Given the description of an element on the screen output the (x, y) to click on. 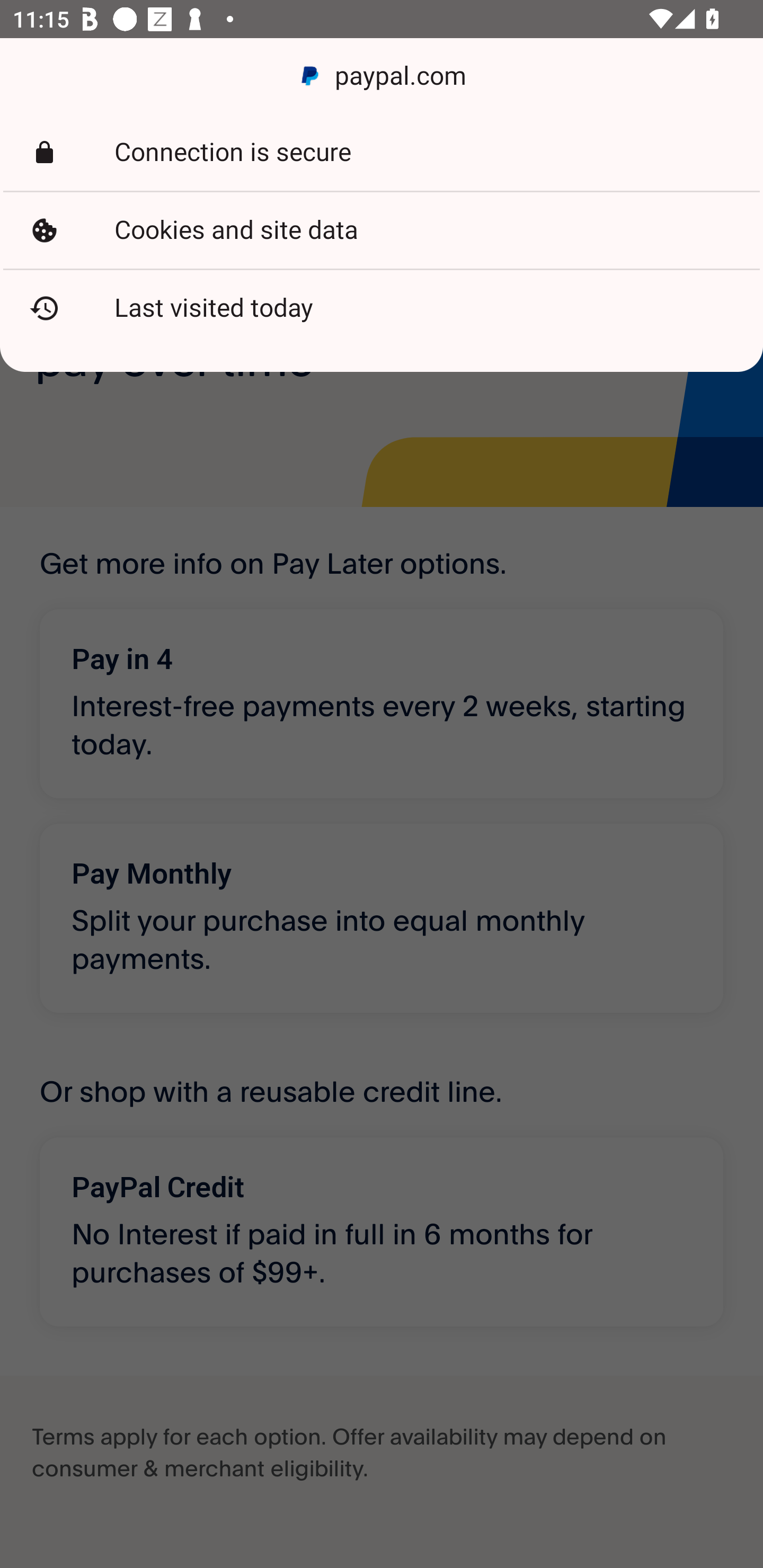
paypal.com (381, 75)
Connection is secure (381, 152)
Cookies and site data (381, 230)
Last visited today (381, 307)
